Given the description of an element on the screen output the (x, y) to click on. 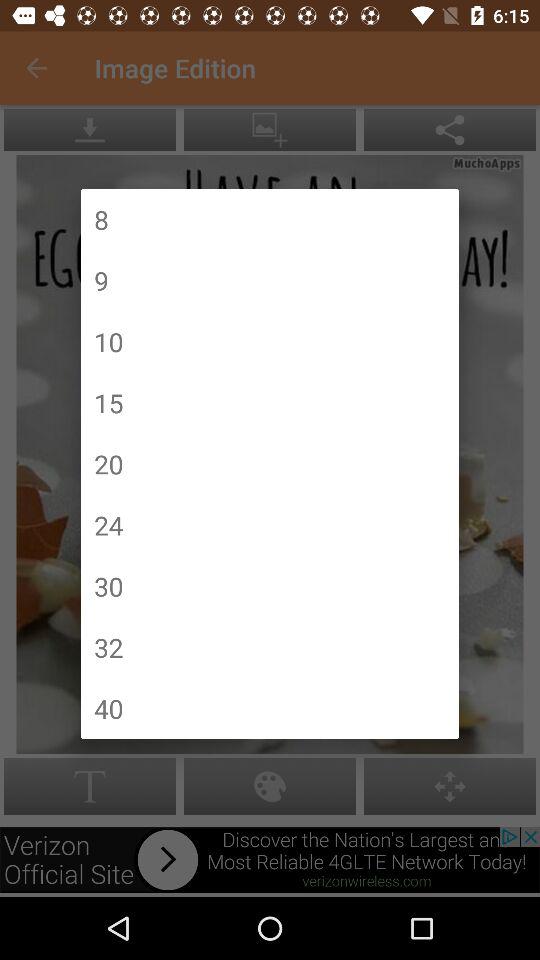
launch item above the 15 (108, 341)
